Given the description of an element on the screen output the (x, y) to click on. 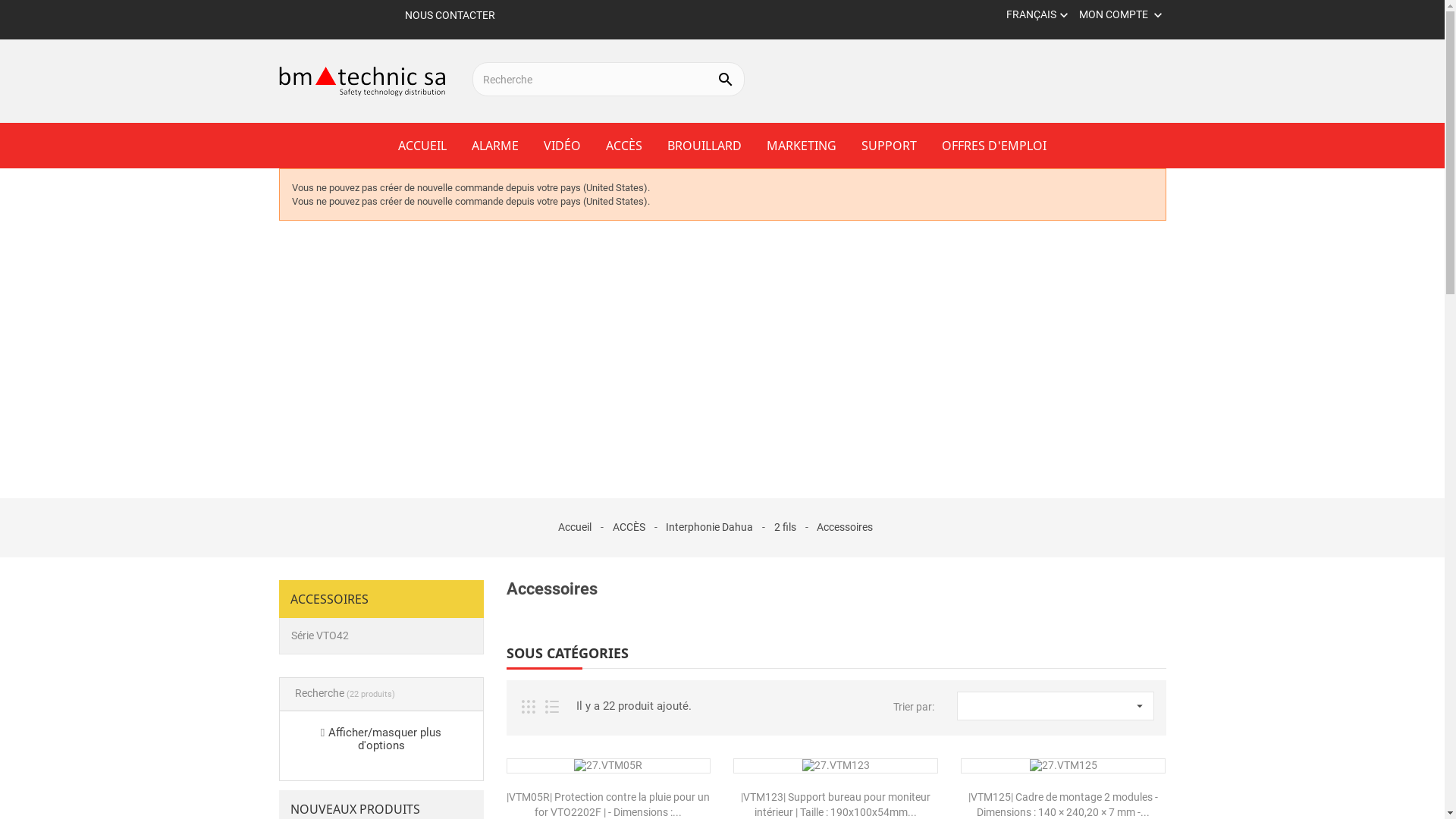
NOUS CONTACTER Element type: text (449, 15)
search Element type: text (725, 79)
ACCUEIL Element type: text (422, 145)
Afficher/masquer plus d'options Element type: text (384, 738)
Interphonie Dahua Element type: text (710, 526)
Accueil Element type: text (575, 526)
Accessoires Element type: text (844, 526)
ALARME Element type: text (495, 145)
MARKETING Element type: text (801, 145)
BROUILLARD Element type: text (704, 145)
Liste Element type: hover (551, 706)
2 fils Element type: text (786, 526)
Grid Element type: hover (527, 706)
SUPPORT Element type: text (889, 145)
OFFRES D'EMPLOI Element type: text (993, 145)
